Given the description of an element on the screen output the (x, y) to click on. 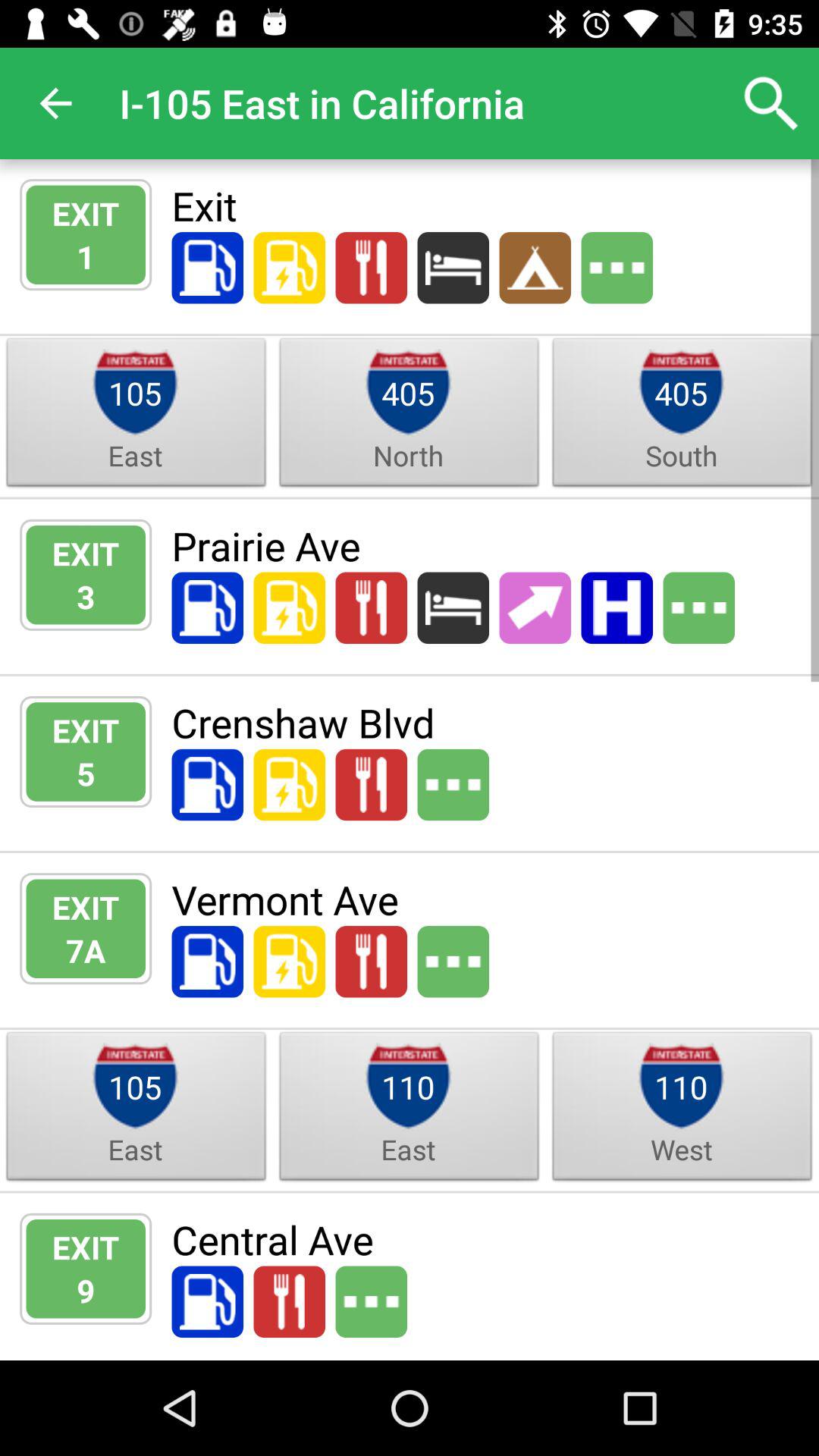
tap icon to the left of crenshaw blvd item (85, 773)
